Given the description of an element on the screen output the (x, y) to click on. 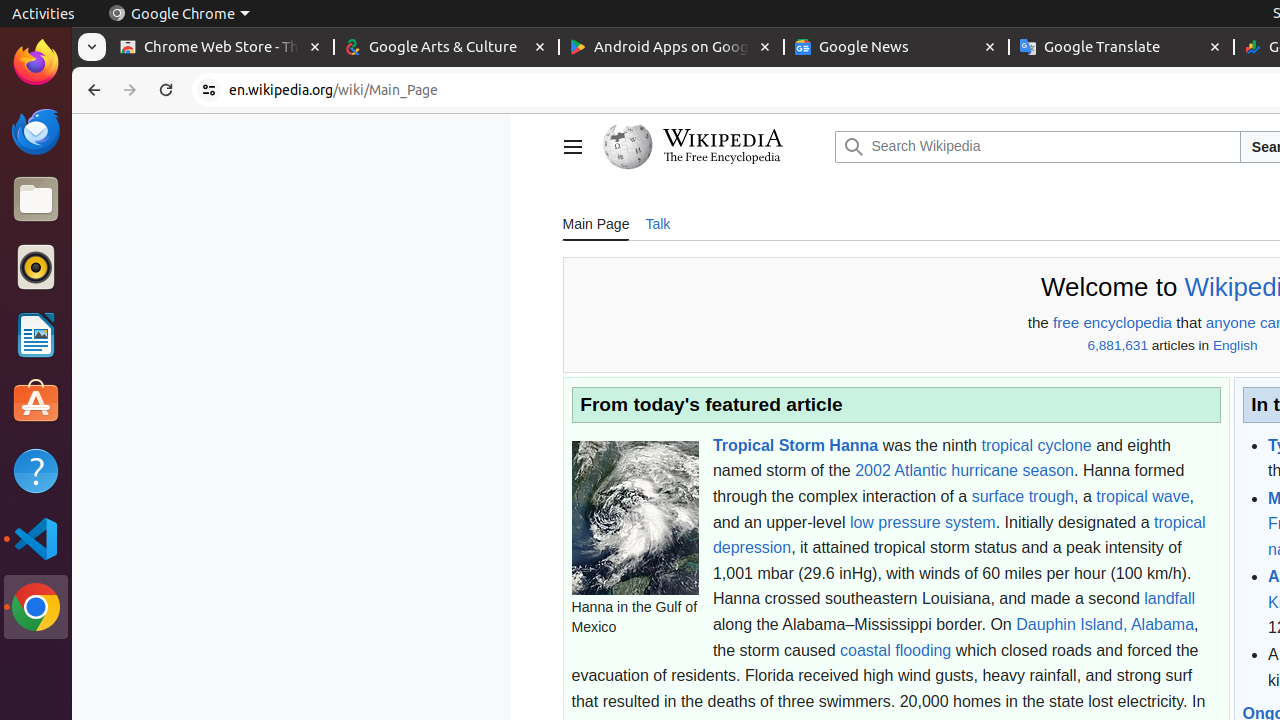
surface trough Element type: link (1022, 495)
2002 Atlantic hurricane season Element type: link (964, 471)
English Element type: link (1235, 346)
Rhythmbox Element type: push-button (36, 267)
Visual Studio Code Element type: push-button (36, 538)
